Given the description of an element on the screen output the (x, y) to click on. 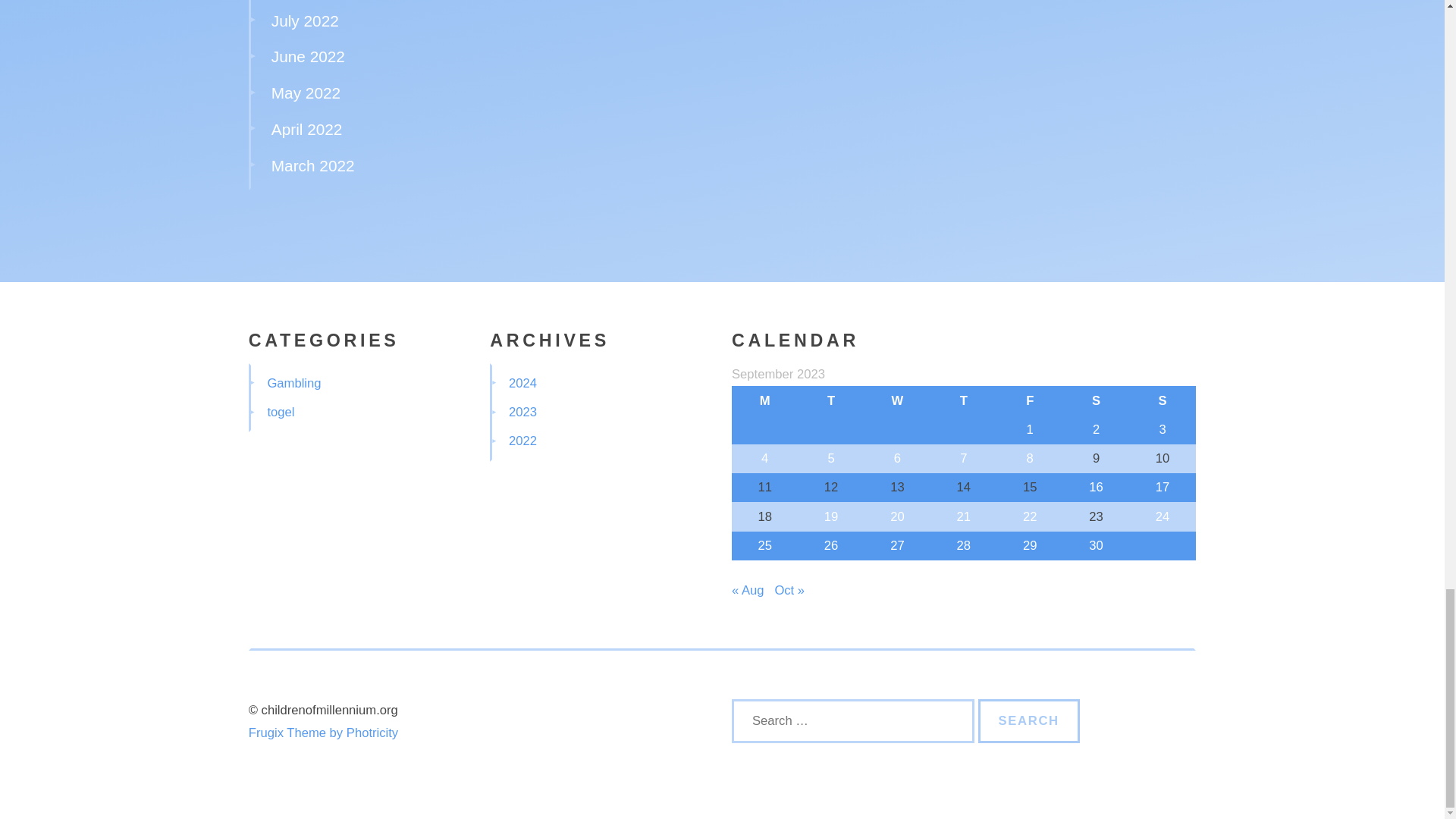
July 2022 (304, 20)
Friday (1029, 399)
Thursday (962, 399)
June 2022 (307, 56)
April 2022 (306, 129)
Saturday (1095, 399)
Wednesday (897, 399)
Monday (764, 399)
Search (1029, 720)
May 2022 (305, 92)
